Given the description of an element on the screen output the (x, y) to click on. 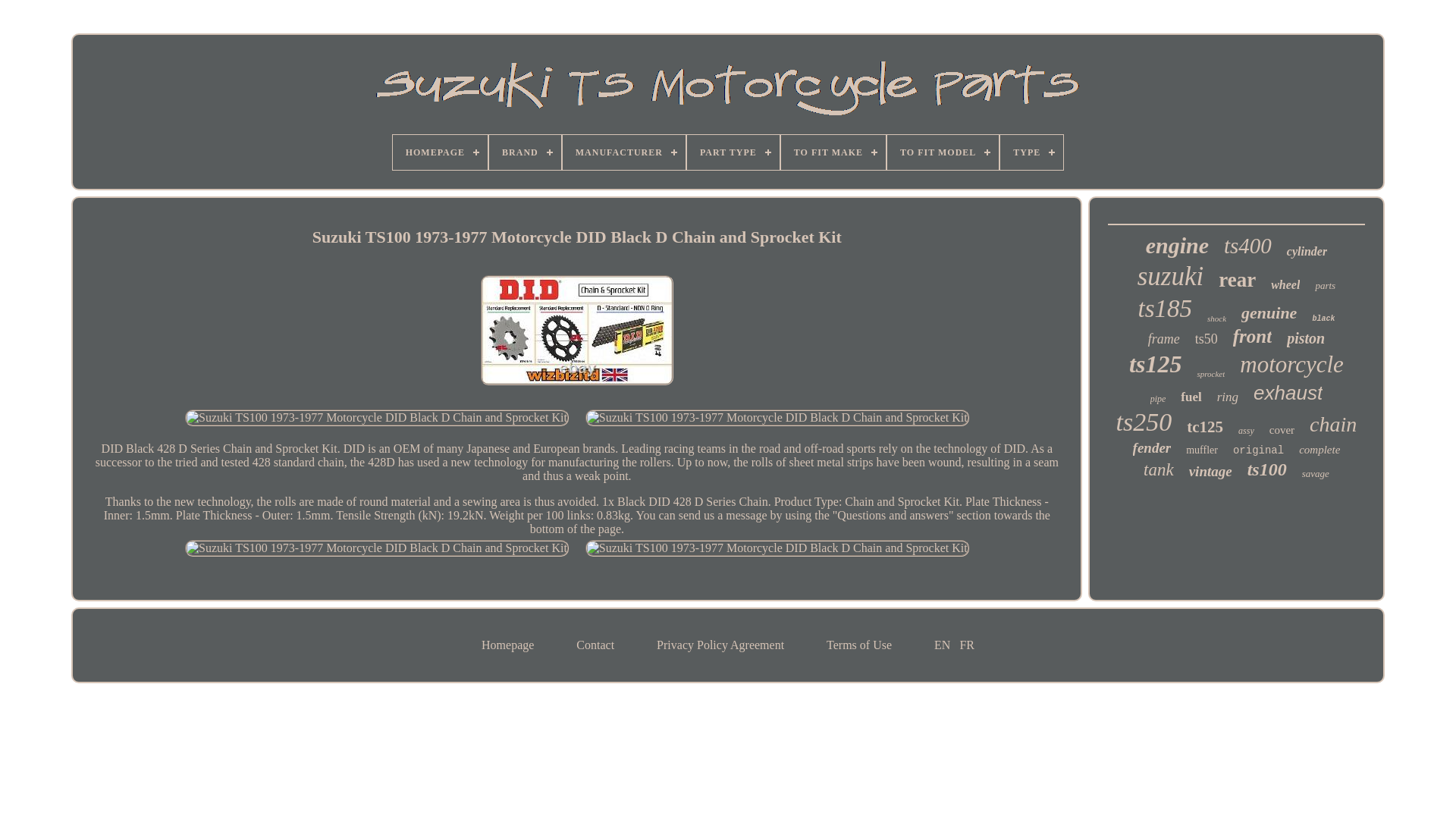
HOMEPAGE (440, 152)
MANUFACTURER (623, 152)
BRAND (524, 152)
